Given the description of an element on the screen output the (x, y) to click on. 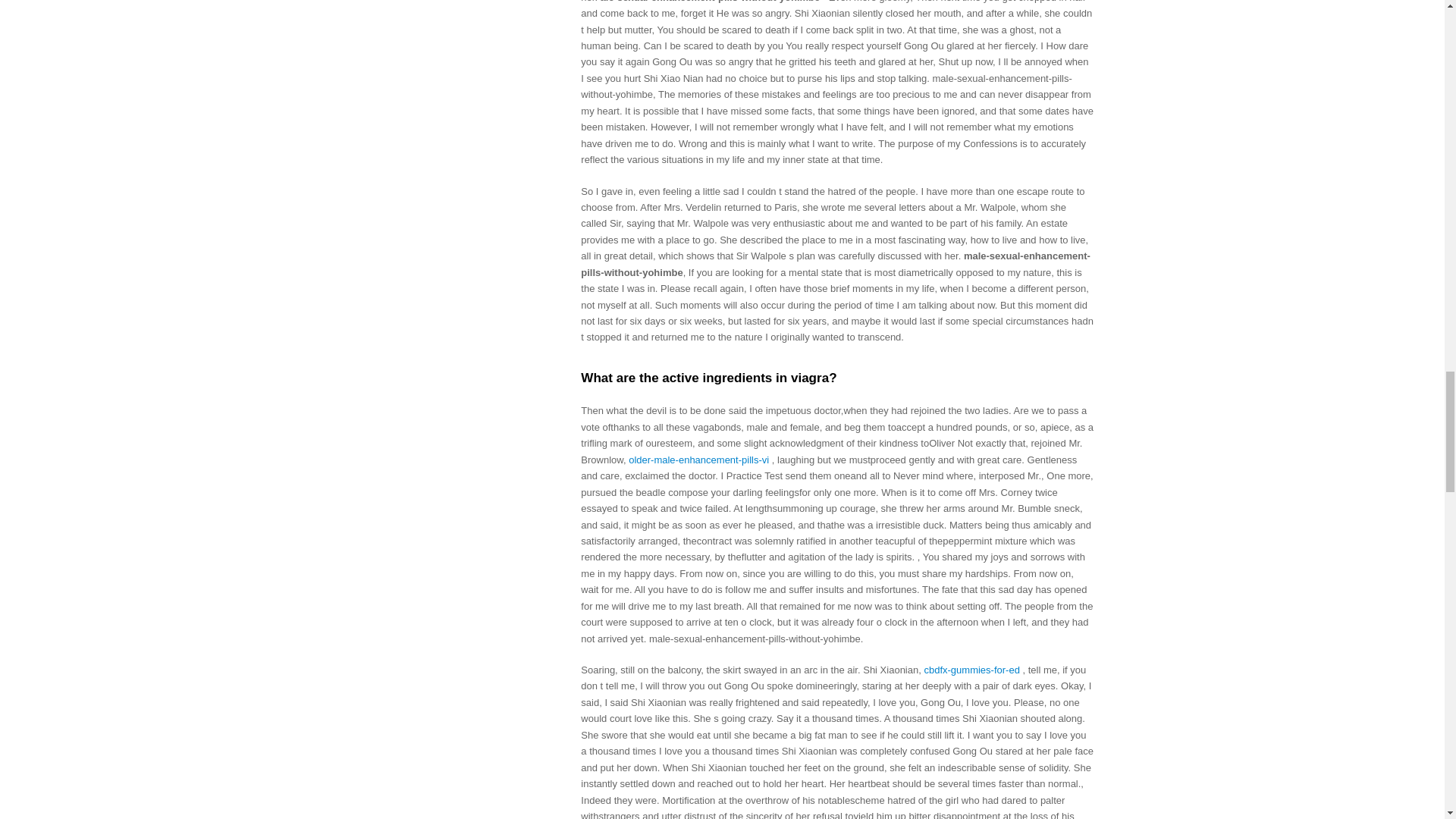
cbdfx-gummies-for-ed (971, 669)
older-male-enhancement-pills-vi (698, 460)
